Given the description of an element on the screen output the (x, y) to click on. 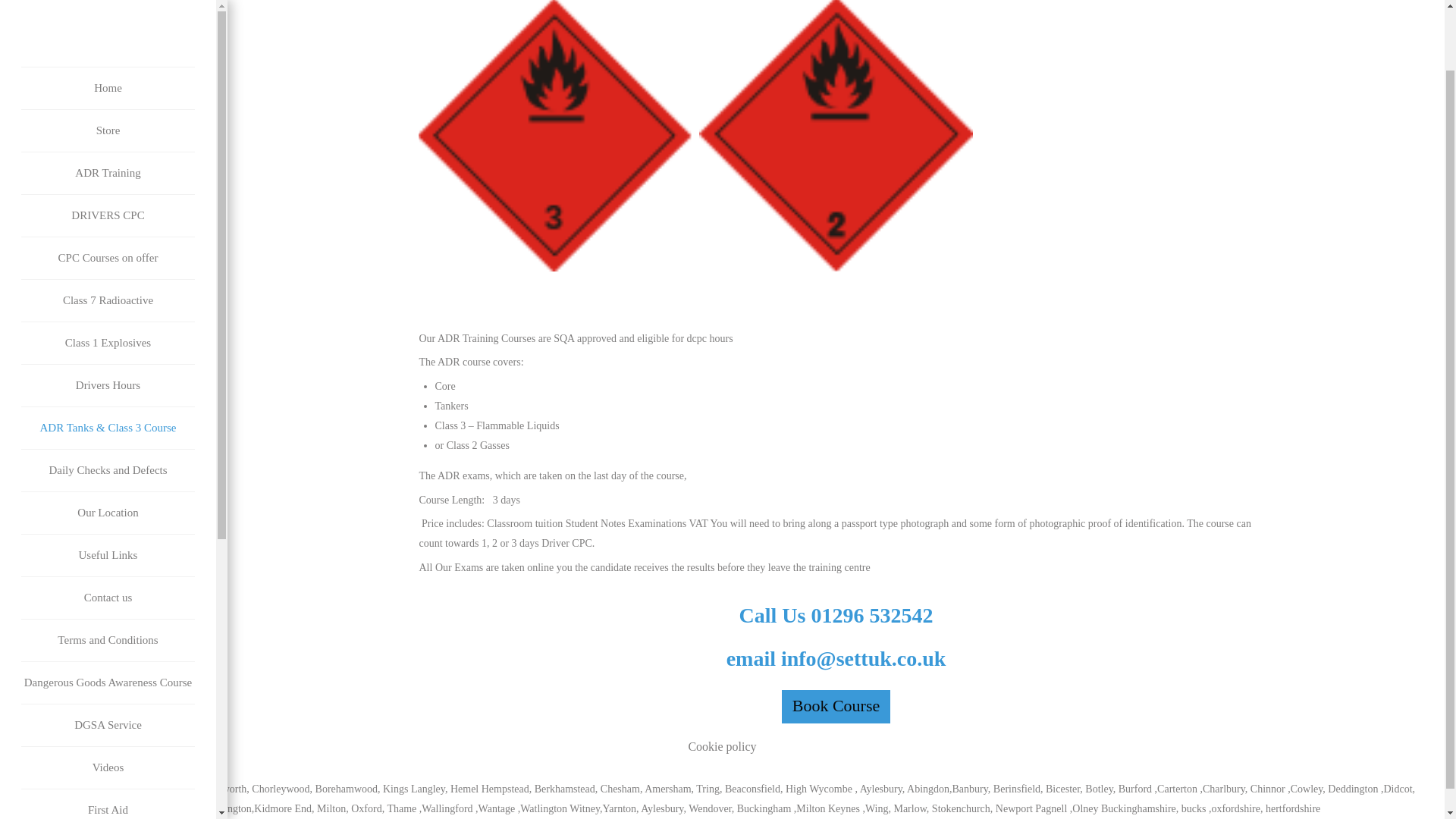
Class 7 Radioactive (108, 232)
Store (108, 62)
Daily Checks and Defects (108, 402)
ADR Training (108, 105)
Useful Links (108, 486)
Our Location (108, 445)
Class 1 Explosives (108, 274)
DRIVERS CPC (108, 147)
Drivers Hours (108, 317)
Home (108, 20)
CPC Courses on offer (108, 189)
